Given the description of an element on the screen output the (x, y) to click on. 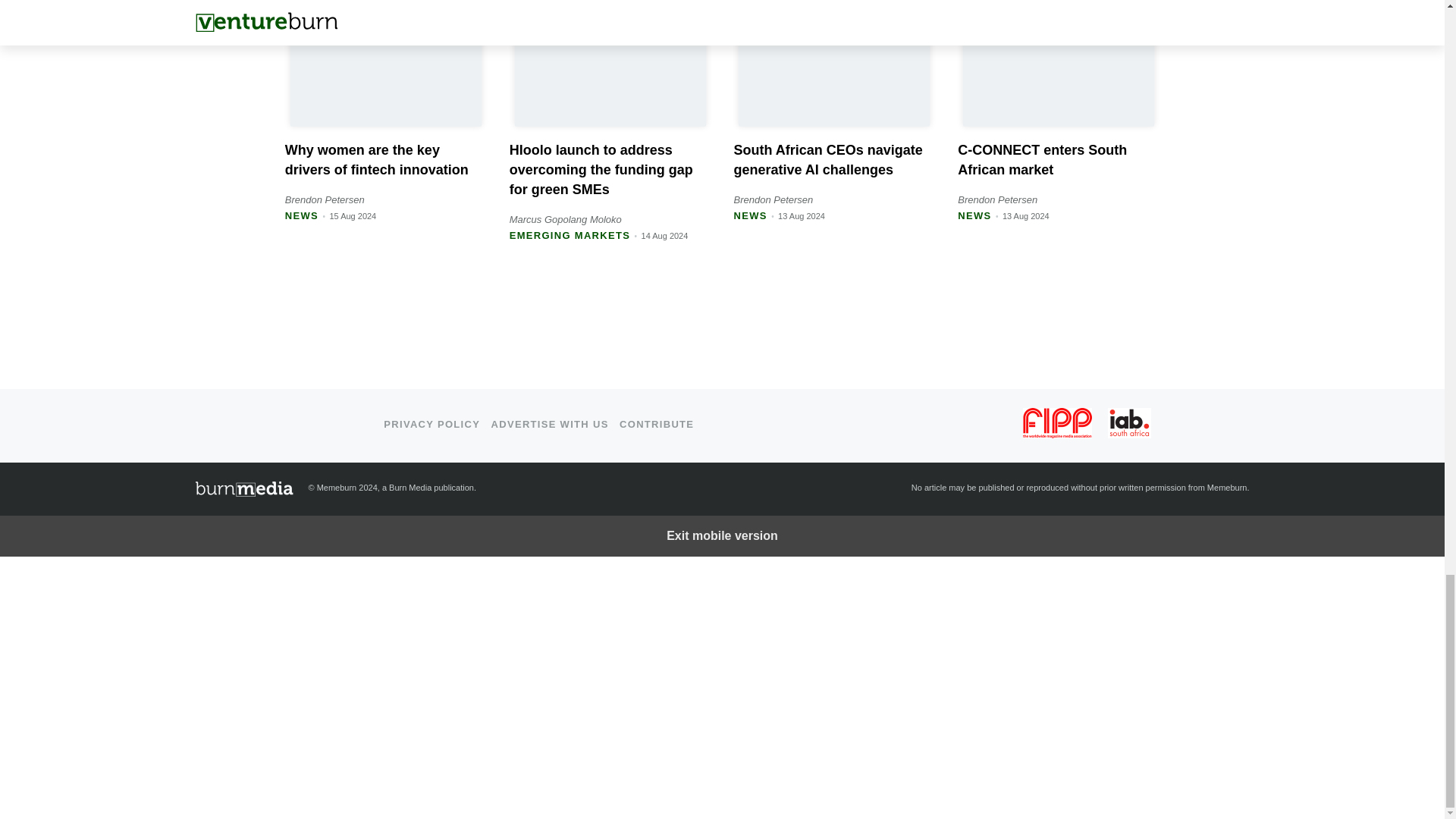
EMERGING MARKETS (569, 235)
13 Aug 2024 (801, 215)
C-CONNECT enters South African market (1042, 159)
Brendon Petersen (325, 199)
NEWS (750, 215)
PRIVACY POLICY (432, 423)
NEWS (974, 215)
15 Aug 2024 (352, 215)
14 Aug 2024 (665, 235)
ADVERTISE WITH US (550, 423)
